Given the description of an element on the screen output the (x, y) to click on. 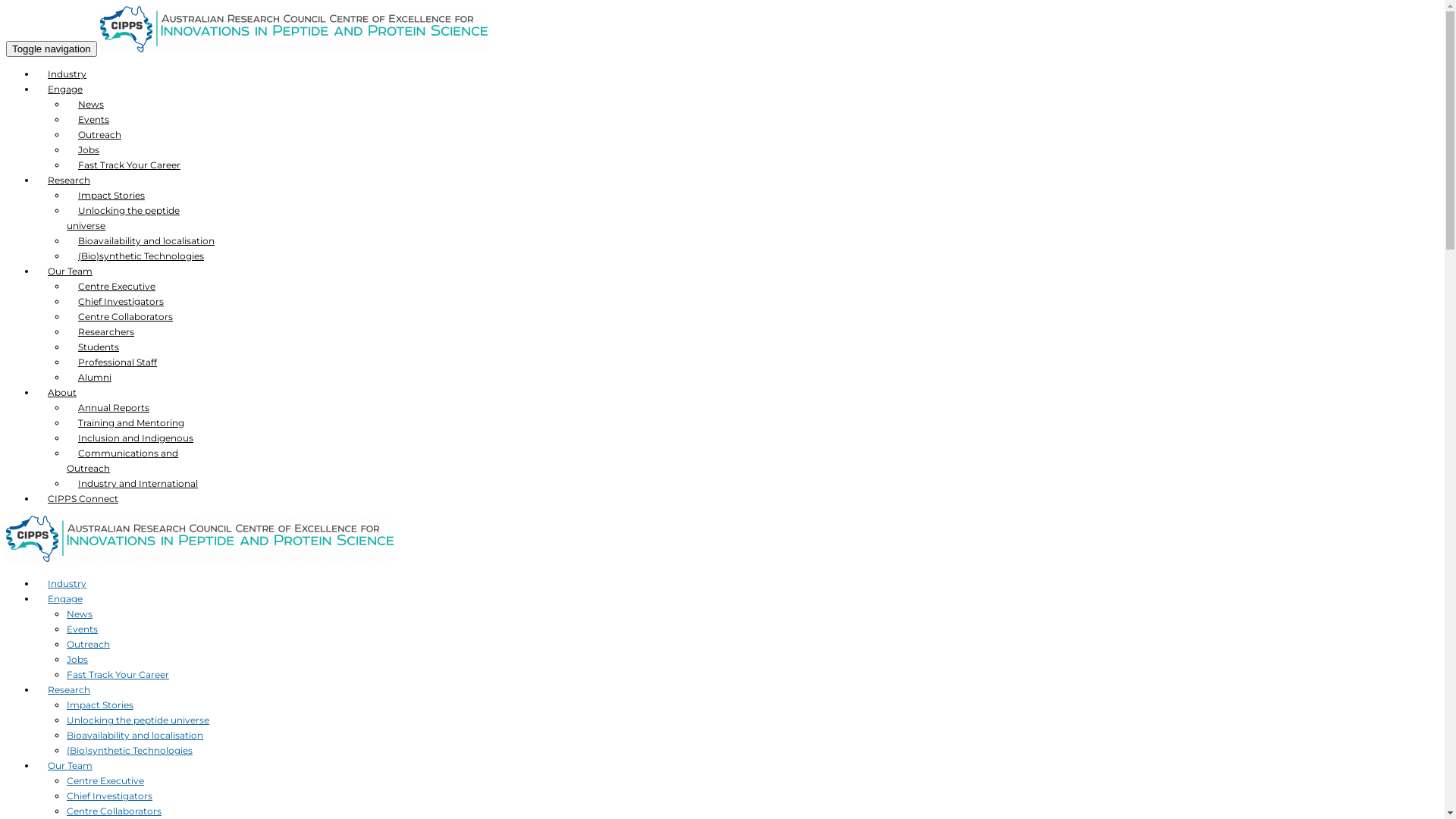
News Element type: text (79, 613)
Communications and Outreach Element type: text (122, 460)
Inclusion and Indigenous Element type: text (135, 437)
Outreach Element type: text (87, 643)
Annual Reports Element type: text (113, 407)
Professional Staff Element type: text (117, 361)
Jobs Element type: text (76, 659)
About Element type: text (61, 392)
Centre Executive Element type: text (105, 780)
Fast Track Your Career Element type: text (128, 164)
Unlocking the peptide universe Element type: text (137, 719)
ARC Centre for Innovations in Peptide and Protein Science Element type: hover (200, 557)
Events Element type: text (93, 119)
Researchers Element type: text (105, 331)
Our Team Element type: text (69, 765)
Industry Element type: text (66, 583)
(Bio)synthetic Technologies Element type: text (140, 255)
Industry and International Element type: text (137, 483)
Bioavailability and localisation Element type: text (134, 734)
Engage Element type: text (65, 598)
Research Element type: text (68, 689)
Training and Mentoring Element type: text (130, 422)
Unlocking the peptide universe Element type: text (122, 217)
Engage Element type: text (65, 89)
Toggle navigation Element type: text (51, 48)
Outreach Element type: text (99, 134)
Impact Stories Element type: text (99, 704)
Fast Track Your Career Element type: text (117, 674)
Alumni Element type: text (94, 377)
Centre Executive Element type: text (116, 286)
ARC Centre for Innovations in Peptide and Protein Science Element type: hover (294, 47)
News Element type: text (90, 104)
Bioavailability and localisation Element type: text (145, 240)
Students Element type: text (98, 346)
Centre Collaborators Element type: text (125, 316)
Centre Collaborators Element type: text (113, 810)
Jobs Element type: text (88, 149)
(Bio)synthetic Technologies Element type: text (129, 750)
Events Element type: text (81, 628)
Research Element type: text (68, 180)
Impact Stories Element type: text (111, 195)
Chief Investigators Element type: text (120, 301)
Industry Element type: text (66, 73)
Our Team Element type: text (69, 271)
Chief Investigators Element type: text (109, 795)
CIPPS Connect Element type: text (82, 498)
